Given the description of an element on the screen output the (x, y) to click on. 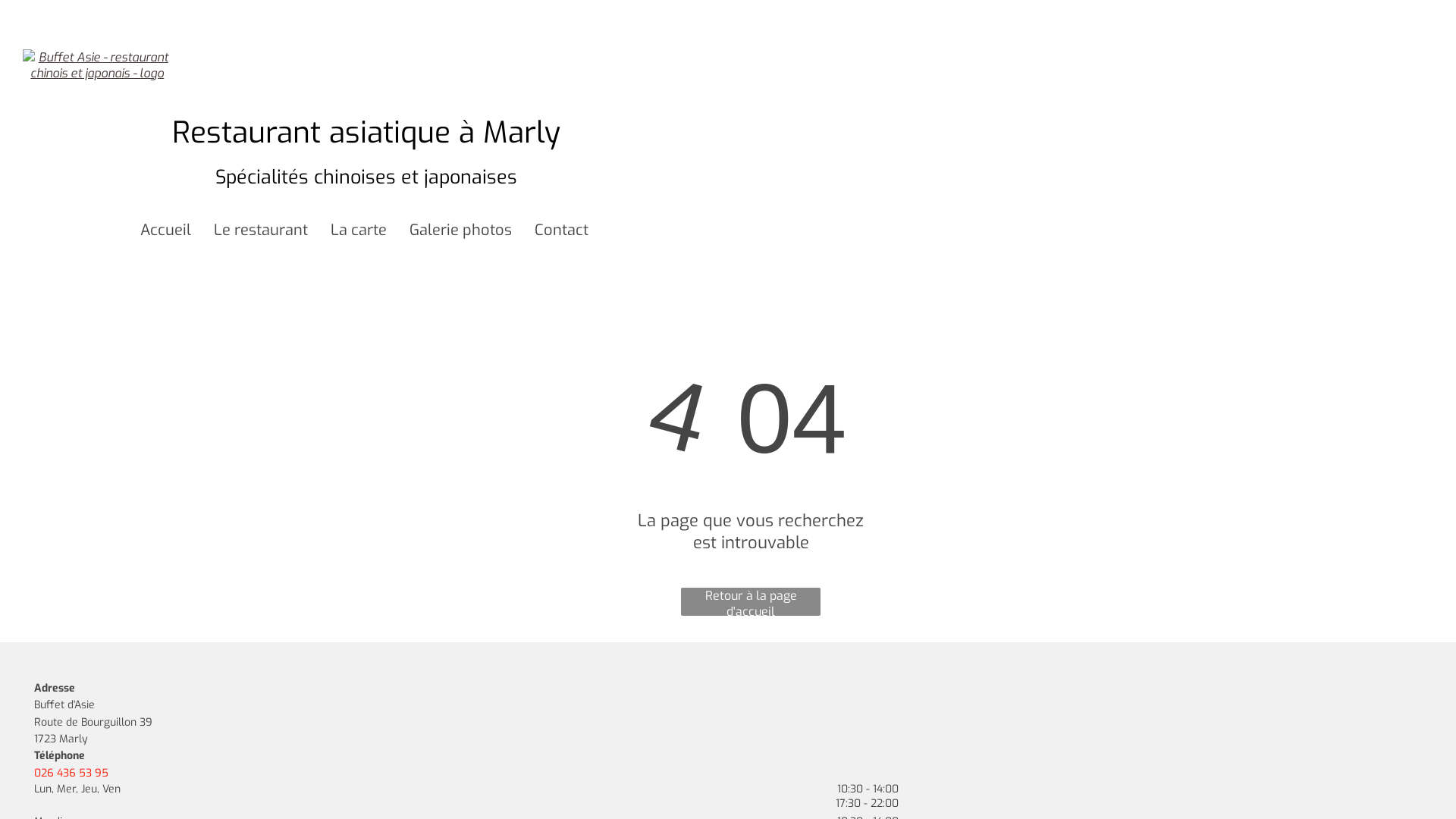
026 436 53 95 Element type: text (71, 772)
La carte Element type: text (358, 230)
Le restaurant Element type: text (260, 230)
Accueil Element type: text (165, 230)
Contact Element type: text (561, 230)
Galerie photos Element type: text (460, 230)
